Given the description of an element on the screen output the (x, y) to click on. 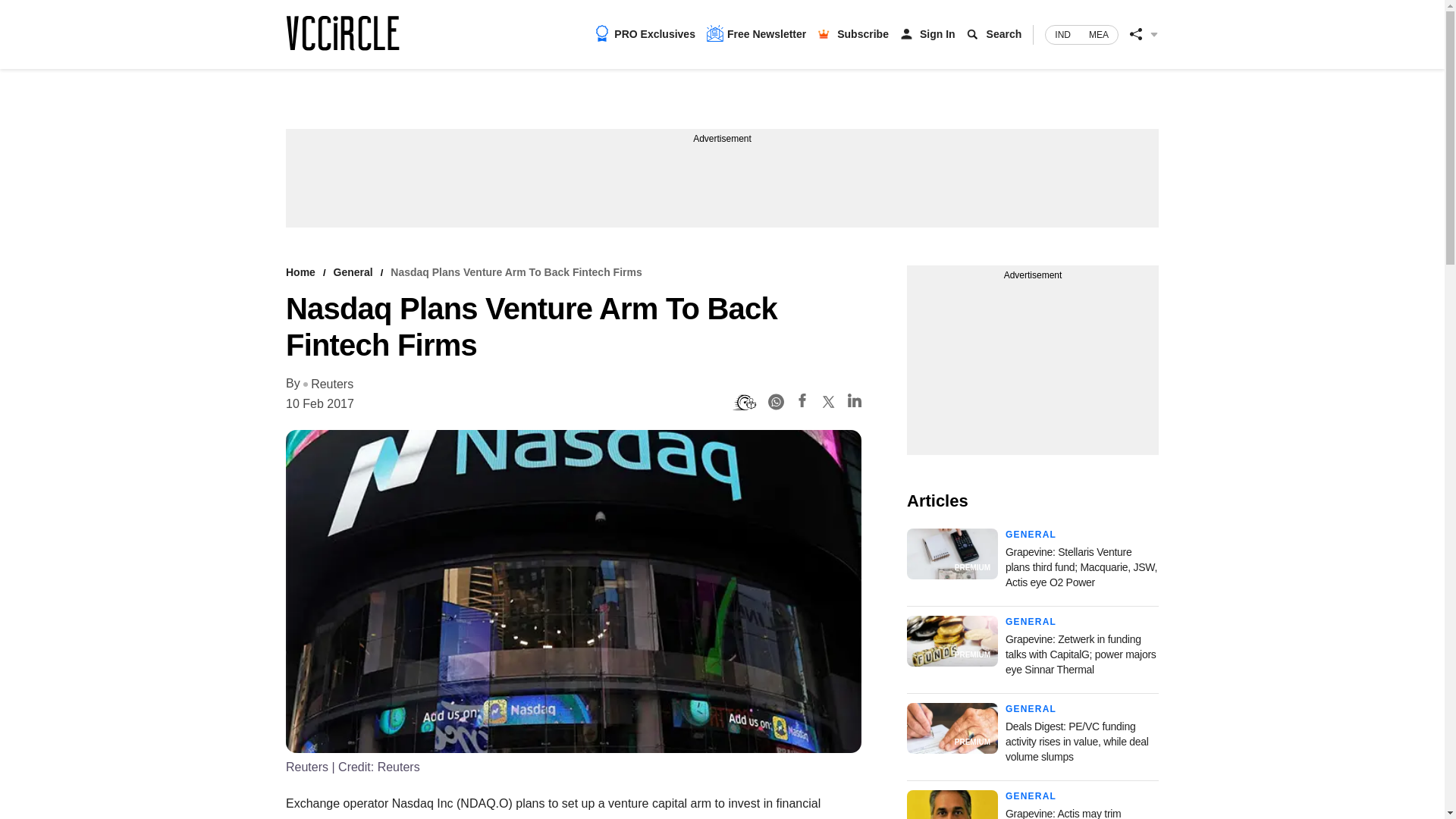
Free Newsletter (756, 33)
Sign In (937, 33)
PRO Exclusives (644, 33)
Reuters (327, 384)
General (352, 272)
GENERAL (1031, 796)
MEA (1099, 34)
GENERAL (1031, 621)
Home (300, 272)
Subscribe (862, 33)
GENERAL (1031, 708)
Stay Home. Read Quality News (341, 32)
GENERAL (1031, 534)
